Given the description of an element on the screen output the (x, y) to click on. 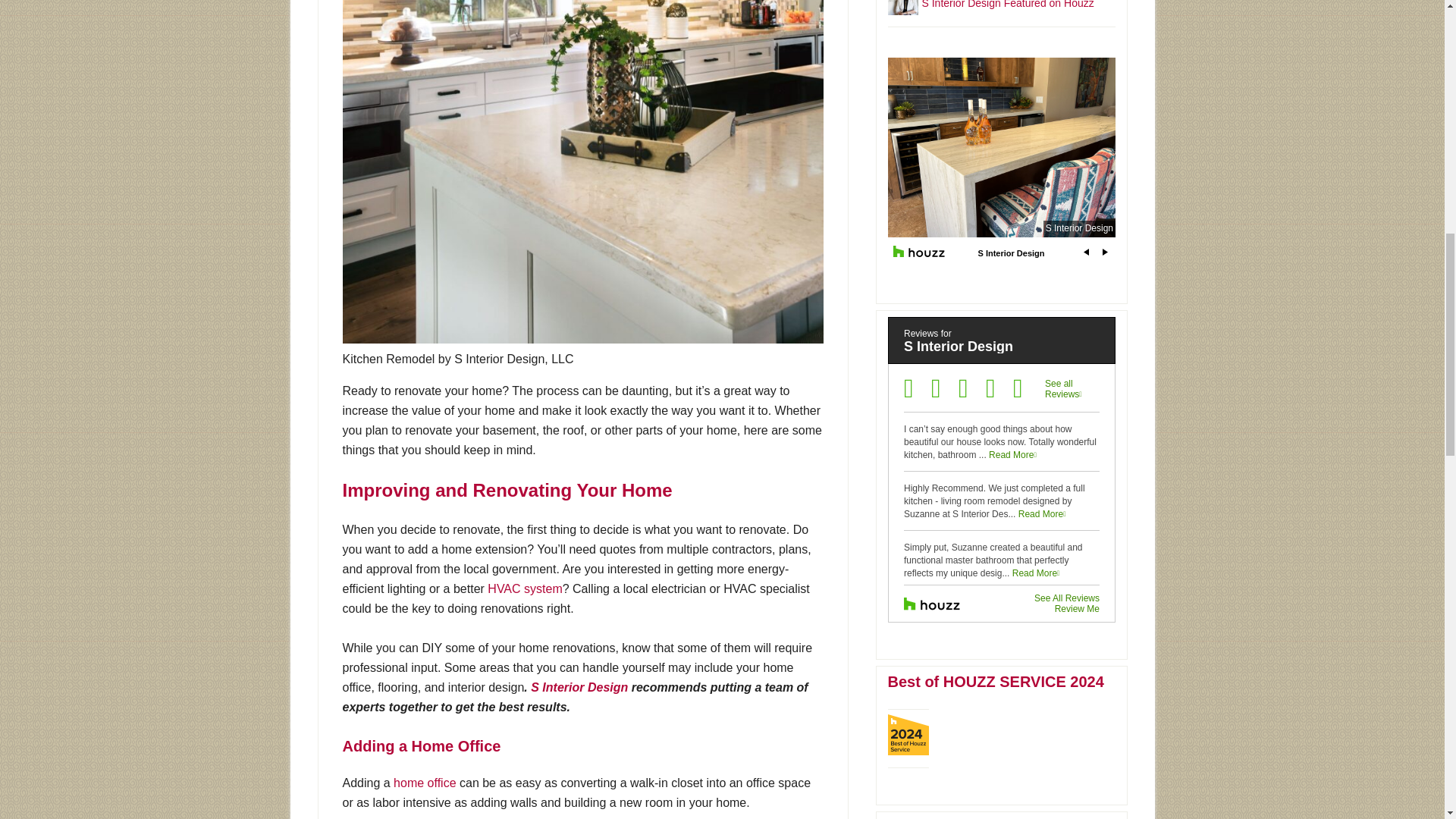
home office (424, 782)
HVAC system (524, 588)
S Interior Design (579, 686)
